Given the description of an element on the screen output the (x, y) to click on. 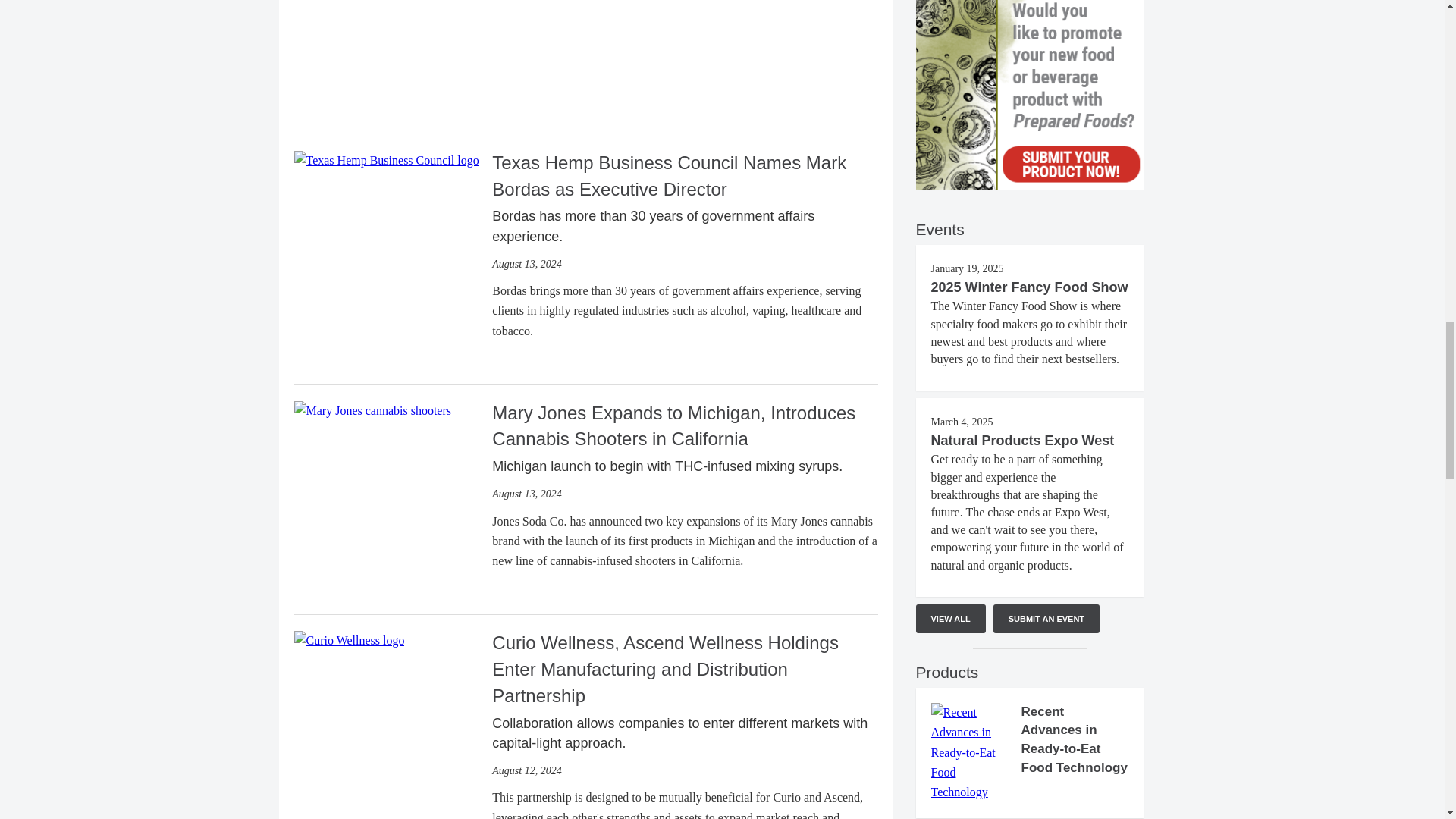
Mary Jones cannabis shooters (372, 410)
Curio Wellness logo (349, 640)
Texas Hemp Business Council logo (386, 160)
